Given the description of an element on the screen output the (x, y) to click on. 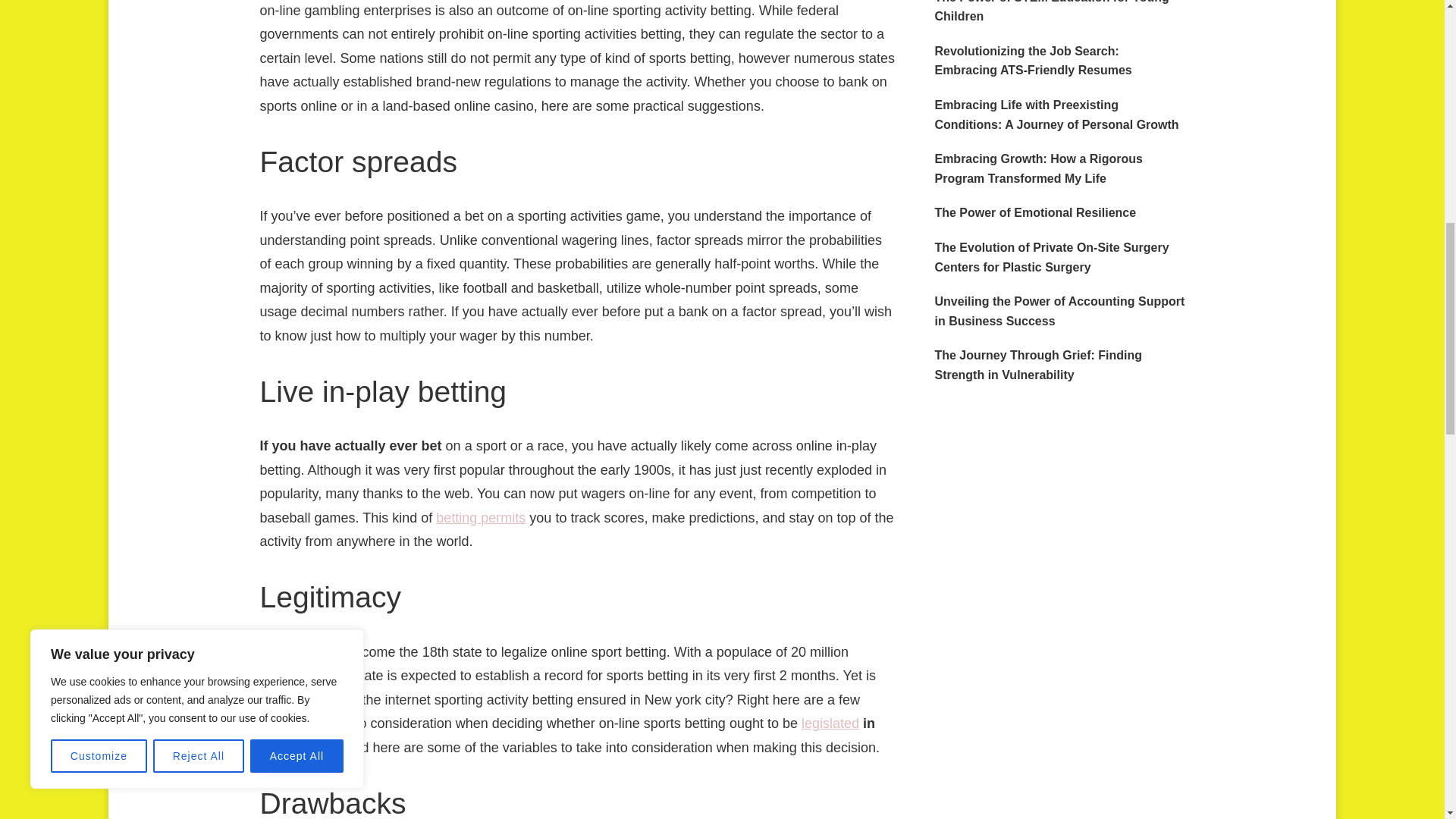
betting permits (480, 517)
legislated (830, 723)
